Given the description of an element on the screen output the (x, y) to click on. 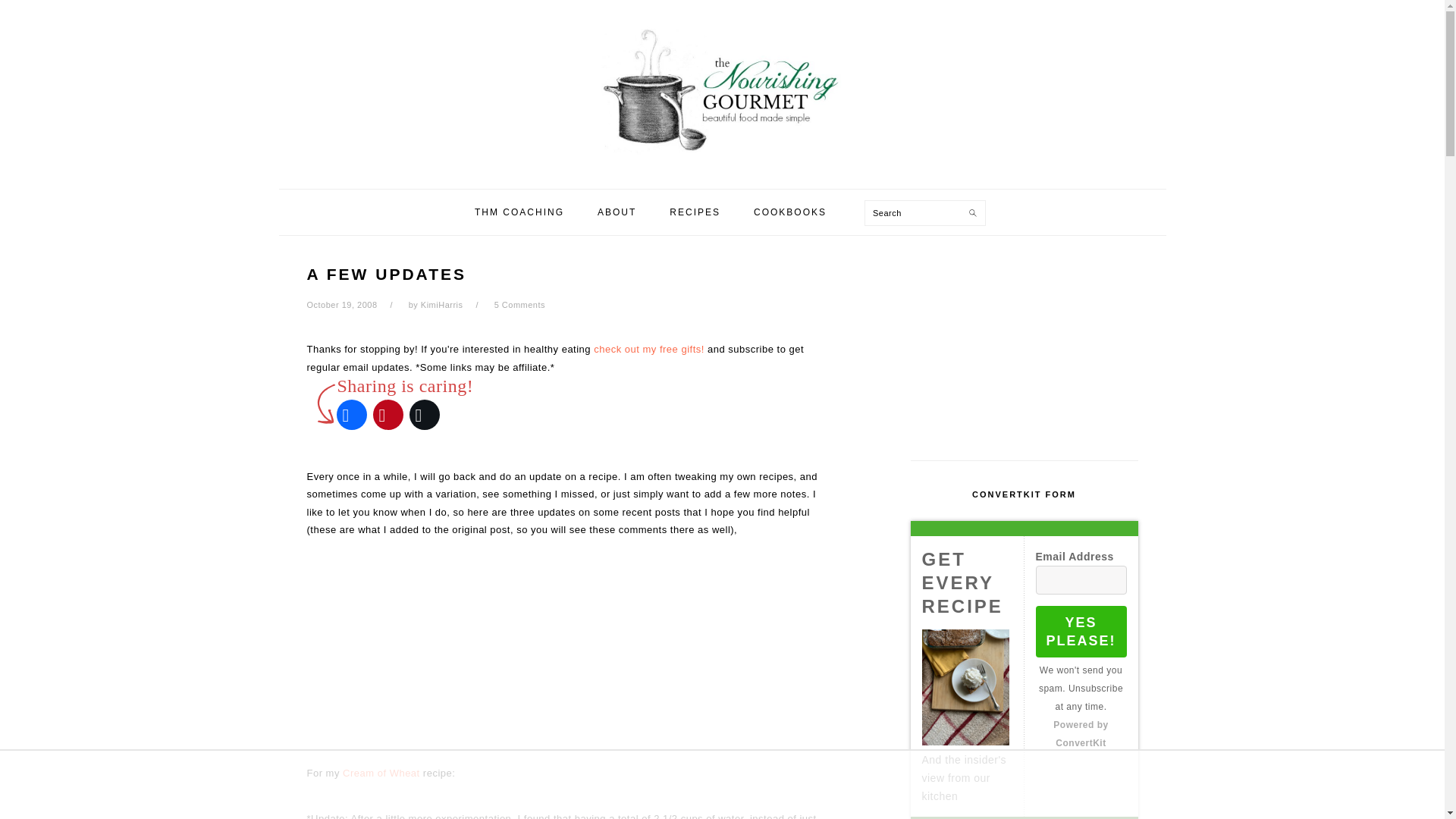
Facebook (351, 414)
KimiHarris (441, 304)
Cream of Wheat (381, 772)
THE NOURISHING GOURMET (721, 89)
Pinterest (387, 414)
5 Comments (519, 304)
COOKBOOKS (790, 212)
check out my free gifts! (649, 348)
RECIPES (694, 212)
